Given the description of an element on the screen output the (x, y) to click on. 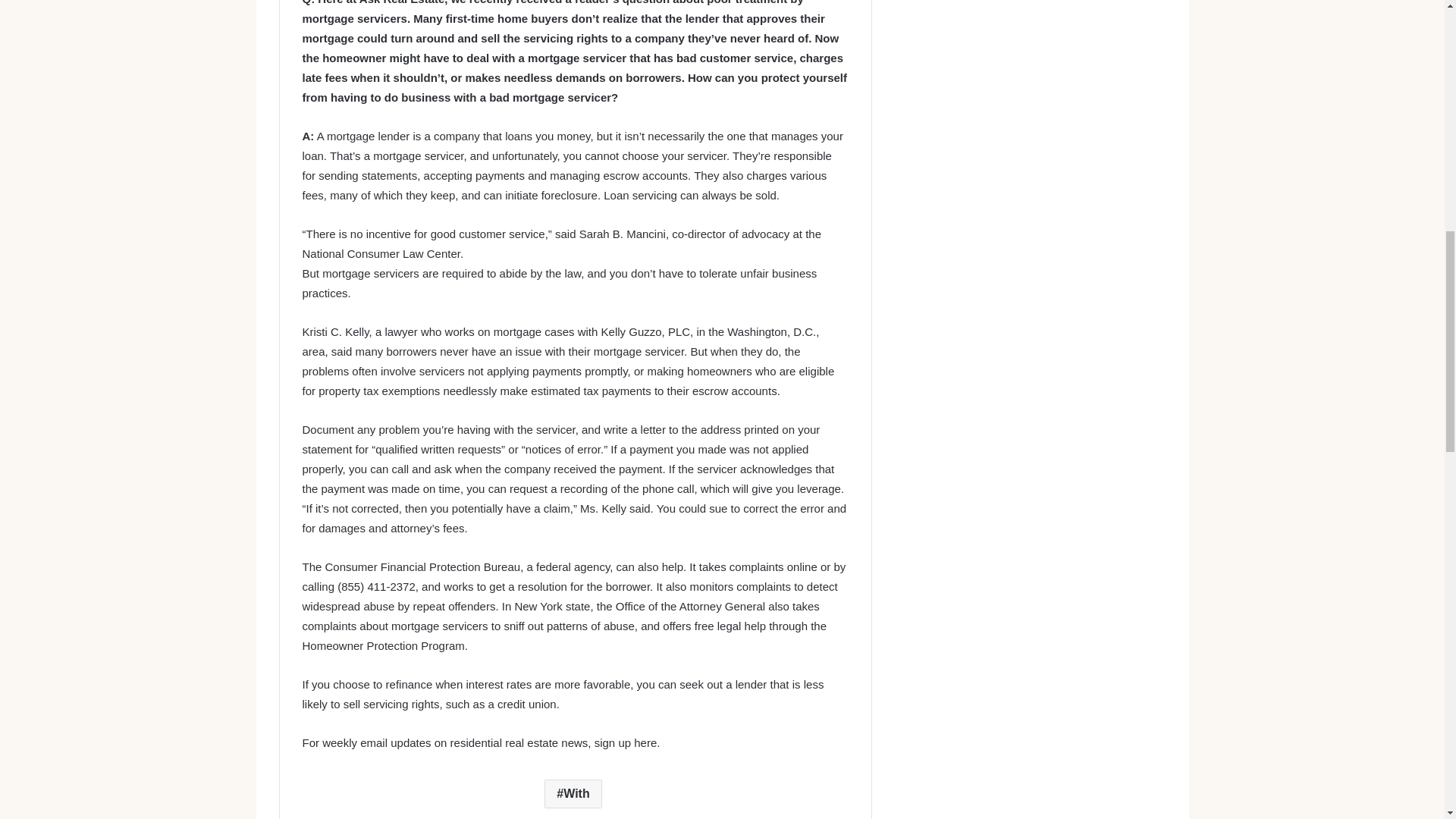
With (572, 793)
